Given the description of an element on the screen output the (x, y) to click on. 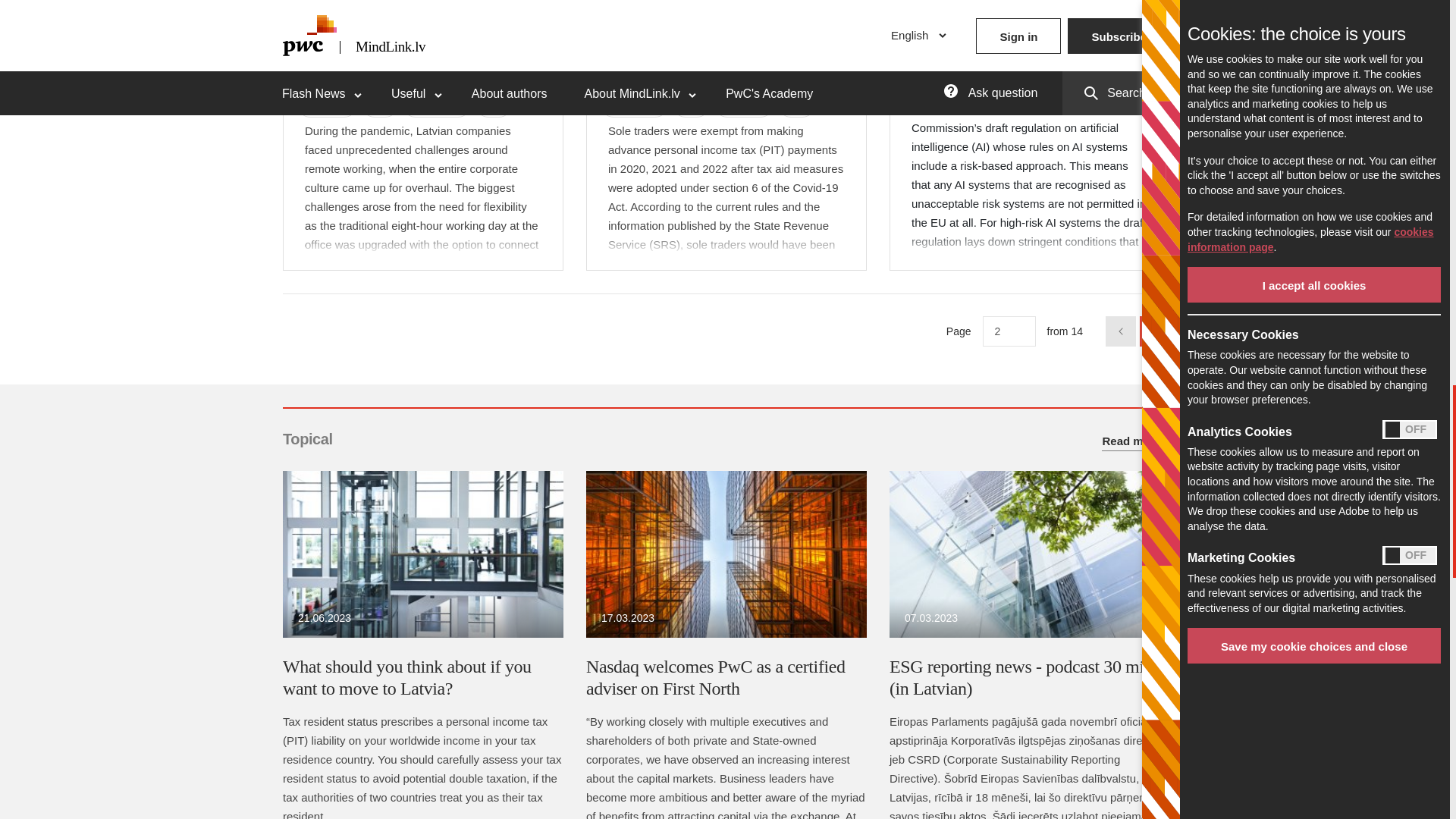
2 (1008, 331)
